Given the description of an element on the screen output the (x, y) to click on. 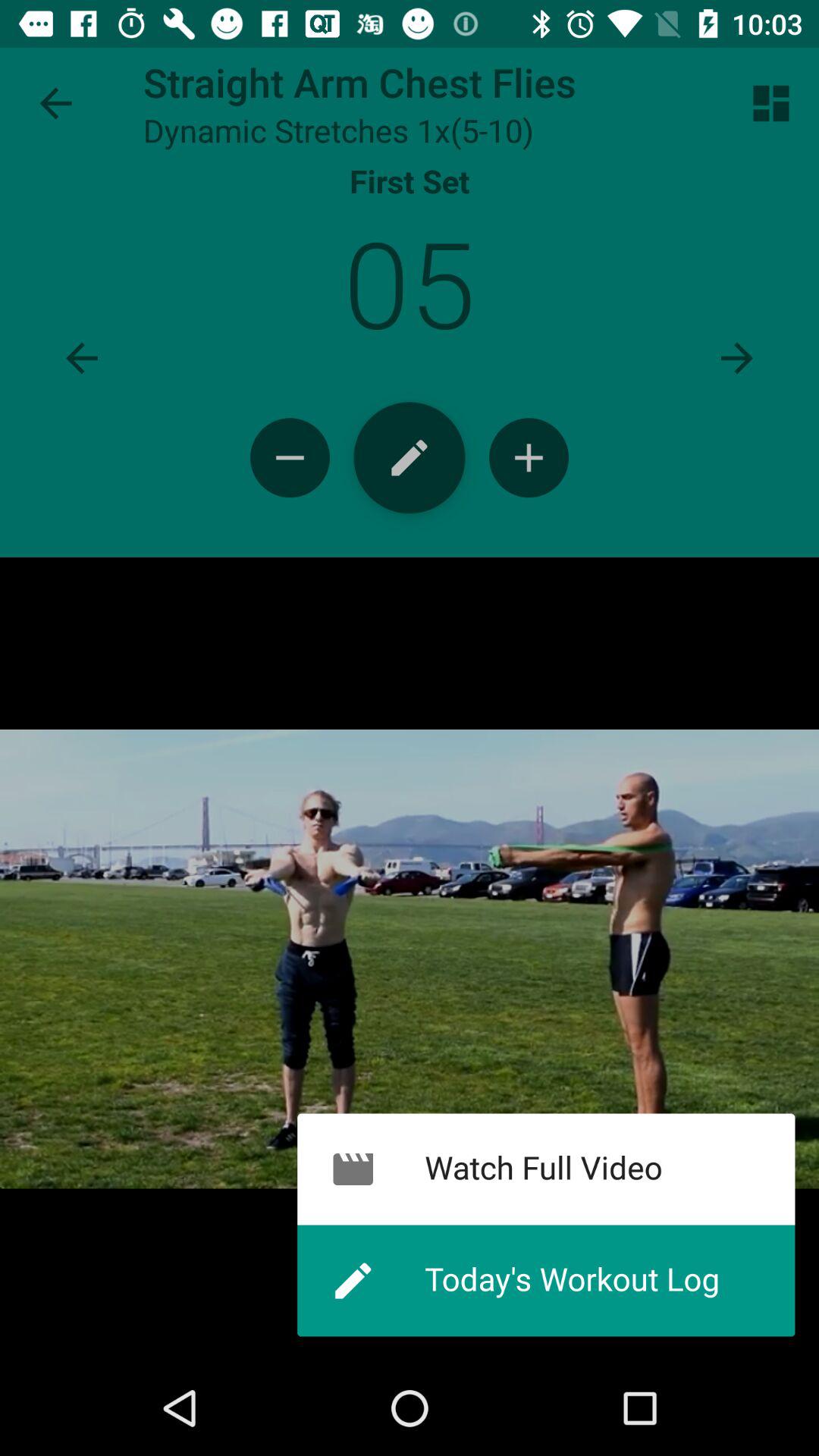
add log (409, 457)
